Given the description of an element on the screen output the (x, y) to click on. 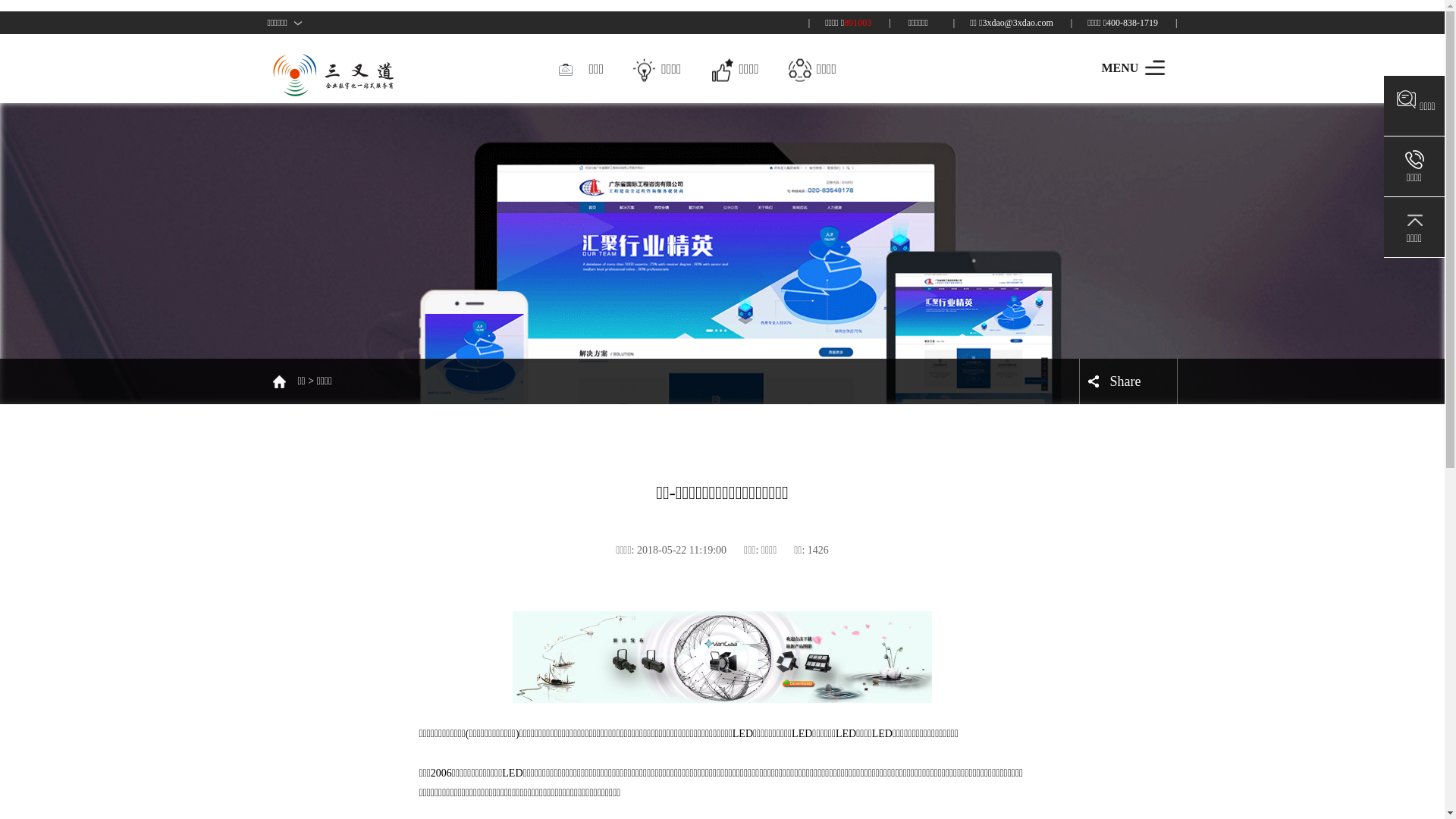
MENU Element type: text (1153, 66)
